Given the description of an element on the screen output the (x, y) to click on. 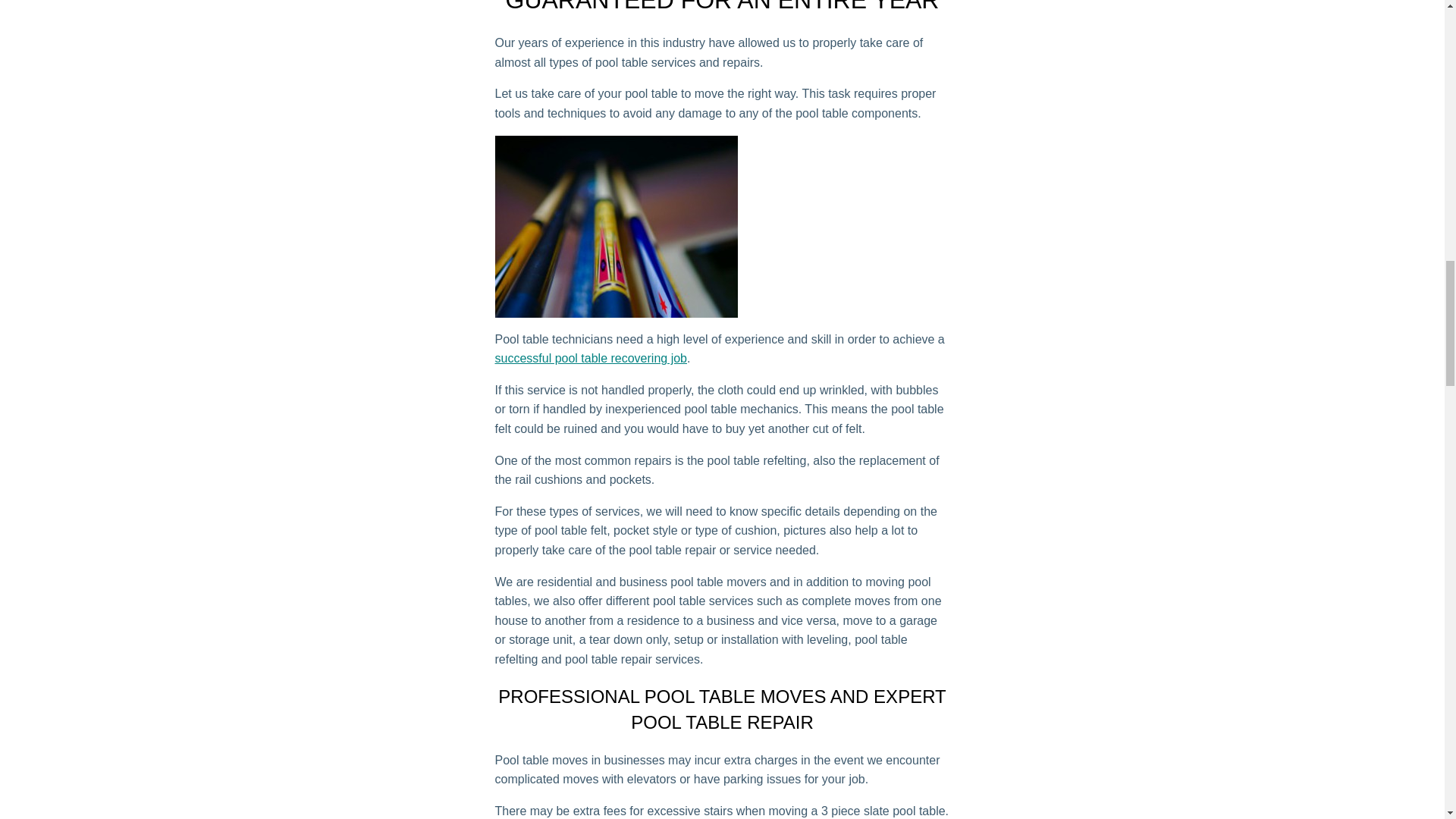
successful pool table recovering job (590, 358)
